Given the description of an element on the screen output the (x, y) to click on. 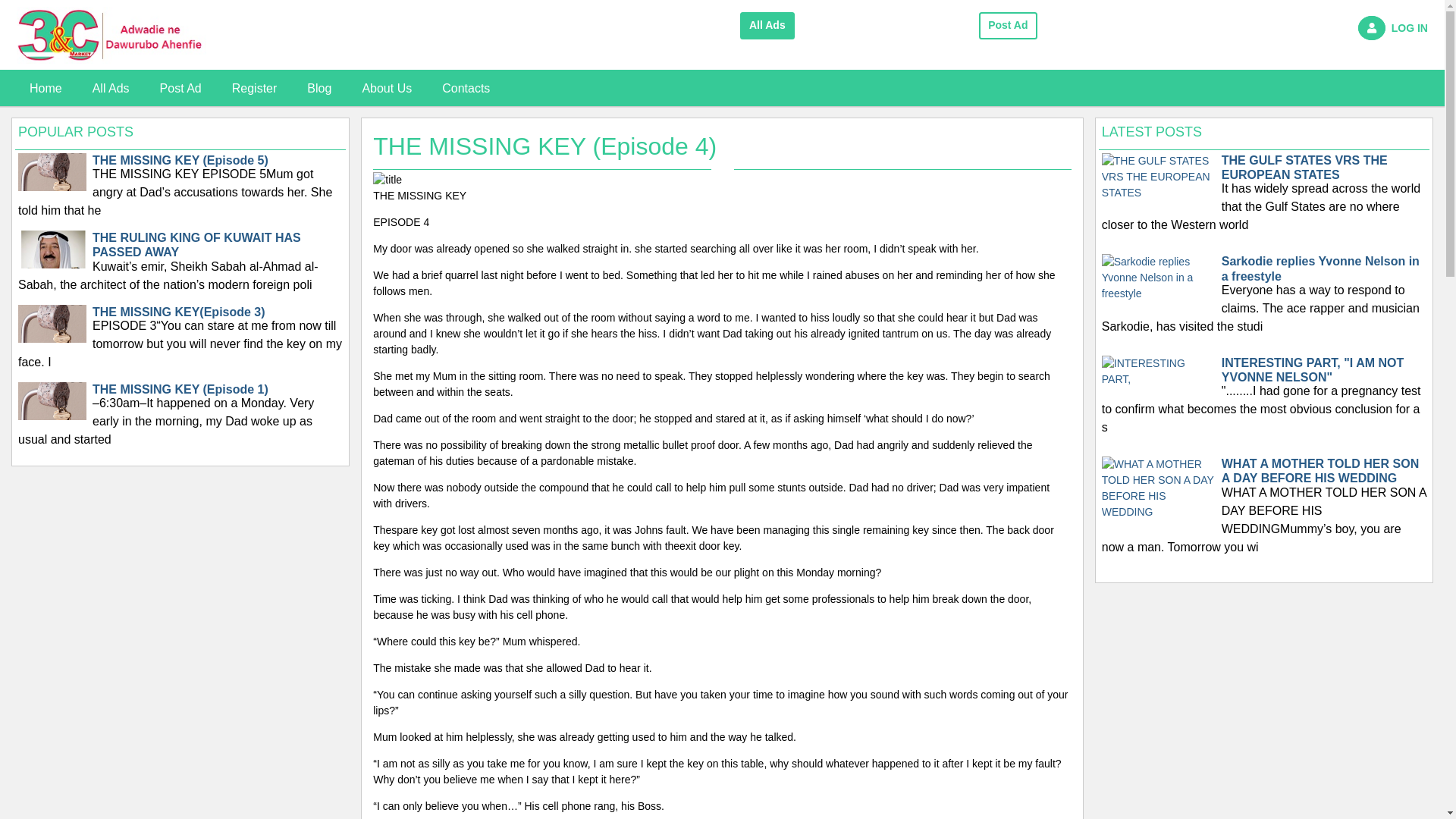
Contacts Element type: text (465, 88)
WHAT A MOTHER TOLD HER SON A DAY BEFORE HIS WEDDING Element type: hover (1158, 488)
Post Ad Element type: text (180, 88)
THE MISSING KEY (Episode 5) Element type: hover (52, 186)
THE GULF STATES VRS THE EUROPEAN STATES Element type: hover (1158, 175)
Home Element type: text (45, 88)
INTERESTING PART,  Element type: hover (1158, 371)
THE MISSING KEY (Episode 5) Element type: hover (52, 187)
THE MISSING KEY(Episode 3) Element type: hover (52, 338)
THE GULF STATES VRS THE EUROPEAN STATES Element type: hover (1158, 176)
Post Ad Element type: text (1008, 25)
THE MISSING KEY(Episode 3) Element type: hover (52, 338)
All Ads Element type: text (767, 20)
About Us Element type: text (386, 88)
Sarkodie replies Yvonne Nelson in a freestyle  Element type: hover (1158, 277)
Blog Element type: text (318, 88)
All Ads Element type: text (110, 88)
All Ads Element type: text (767, 25)
INTERESTING PART,  Element type: hover (1158, 370)
WHAT A MOTHER TOLD HER SON A DAY BEFORE HIS WEDDING Element type: hover (1158, 487)
THE MISSING KEY (Episode 1) Element type: hover (52, 416)
Post Ad Element type: text (1008, 20)
LOG IN Element type: text (1319, 28)
Sarkodie replies Yvonne Nelson in a freestyle  Element type: hover (1158, 277)
Register Element type: text (254, 88)
THE RULING KING OF KUWAIT HAS PASSED AWAY Element type: hover (52, 264)
THE MISSING KEY (Episode 1) Element type: hover (52, 415)
THE RULING KING OF KUWAIT HAS PASSED AWAY Element type: hover (52, 264)
